Given the description of an element on the screen output the (x, y) to click on. 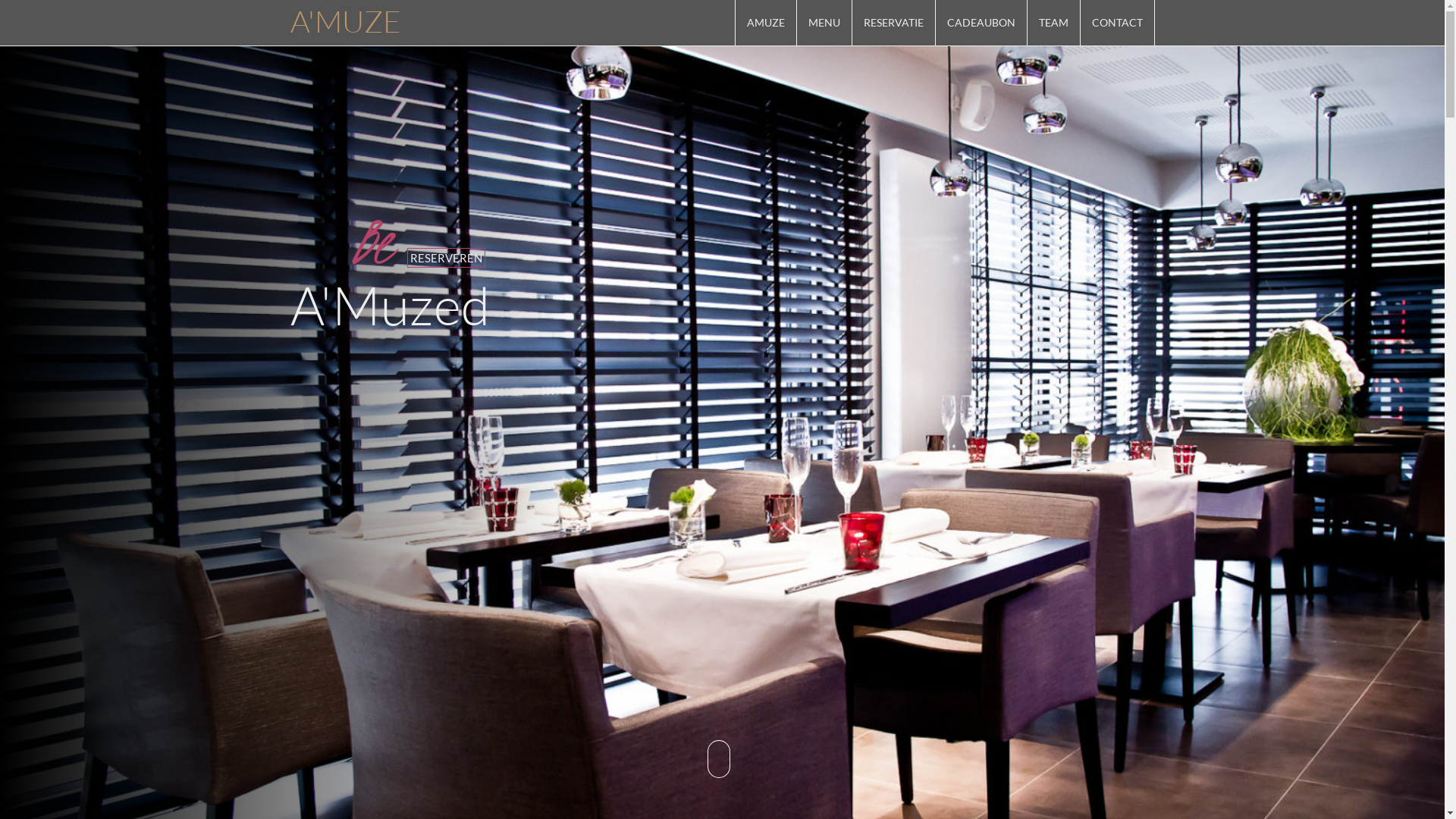
AMUZE Element type: text (765, 22)
CADEAUBON Element type: text (980, 22)
CONTACT Element type: text (1116, 22)
A'MUZE Element type: text (345, 20)
MENU Element type: text (823, 22)
TEAM Element type: text (1052, 22)
RESERVEREN Element type: text (445, 257)
RESERVATIE Element type: text (893, 22)
